Given the description of an element on the screen output the (x, y) to click on. 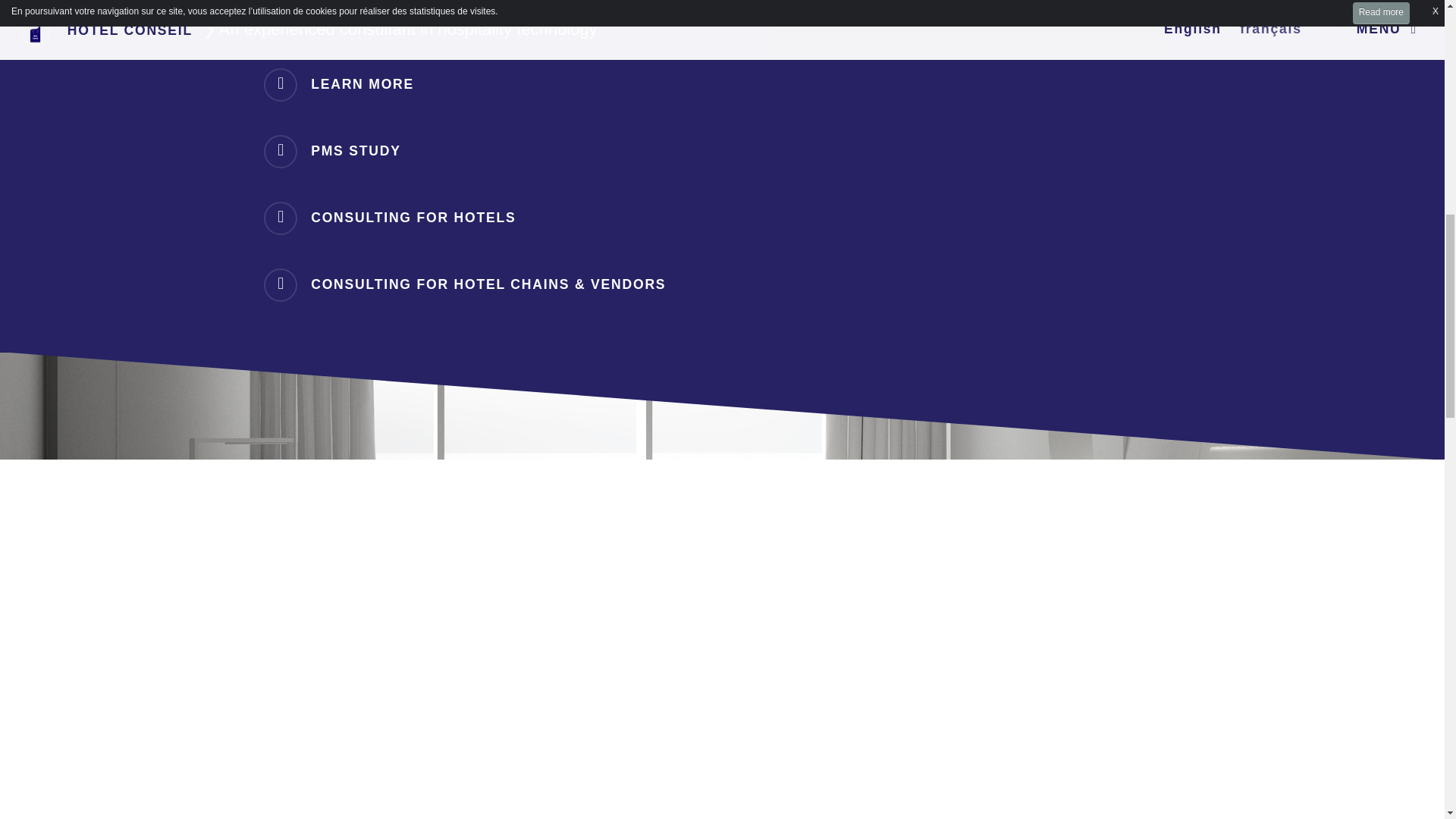
PMS STUDY (721, 151)
LEARN MORE (721, 84)
CONSULTING FOR HOTELS (721, 218)
